Given the description of an element on the screen output the (x, y) to click on. 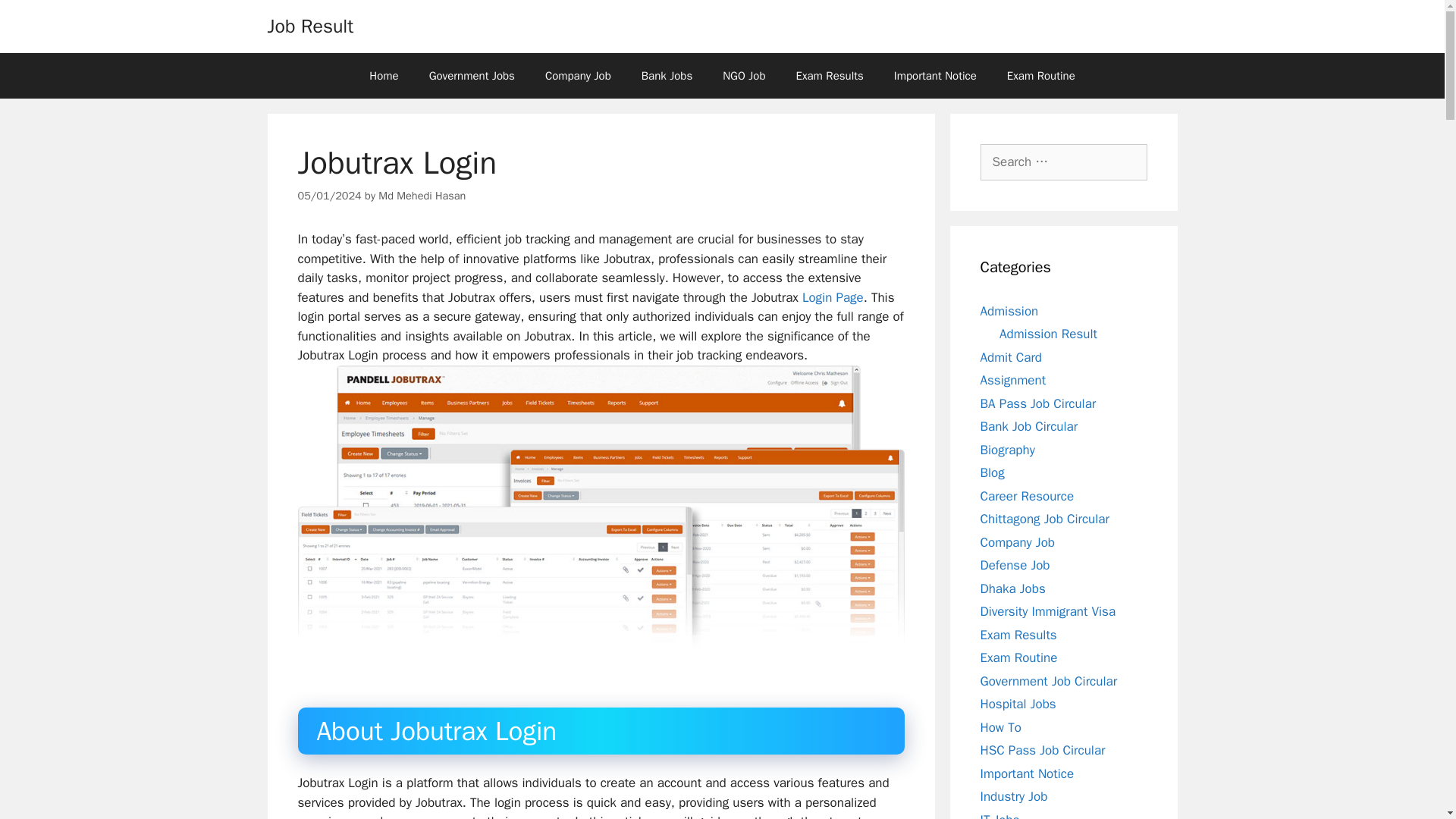
Defense Job (1014, 565)
Md Mehedi Hasan (421, 195)
Exam Routine (1040, 75)
Career Resource (1026, 496)
Bank Jobs (666, 75)
NGO Job (743, 75)
Assignment (1012, 380)
Home (383, 75)
BA Pass Job Circular (1037, 403)
Government Jobs (471, 75)
